Given the description of an element on the screen output the (x, y) to click on. 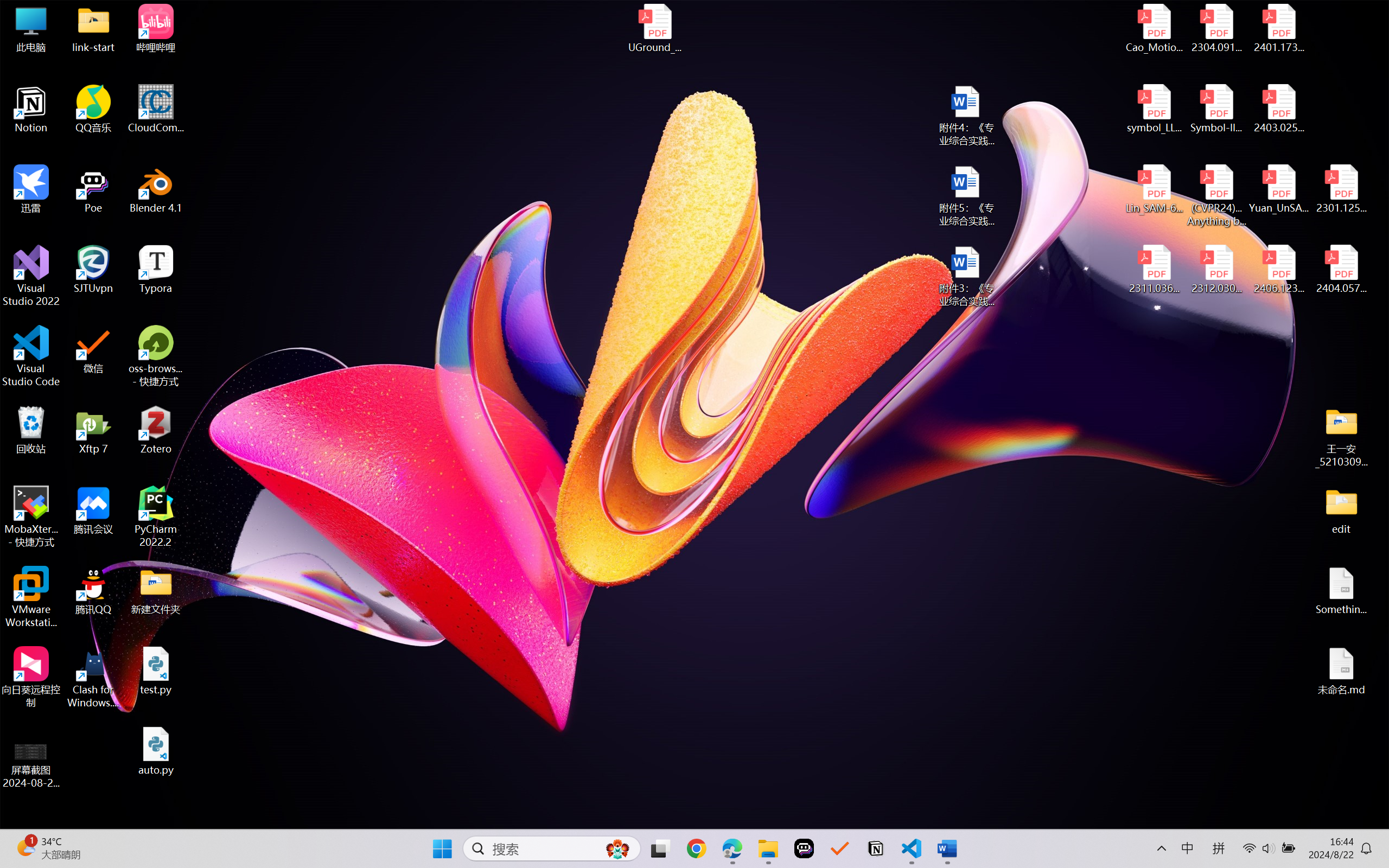
SJTUvpn (93, 269)
